Given the description of an element on the screen output the (x, y) to click on. 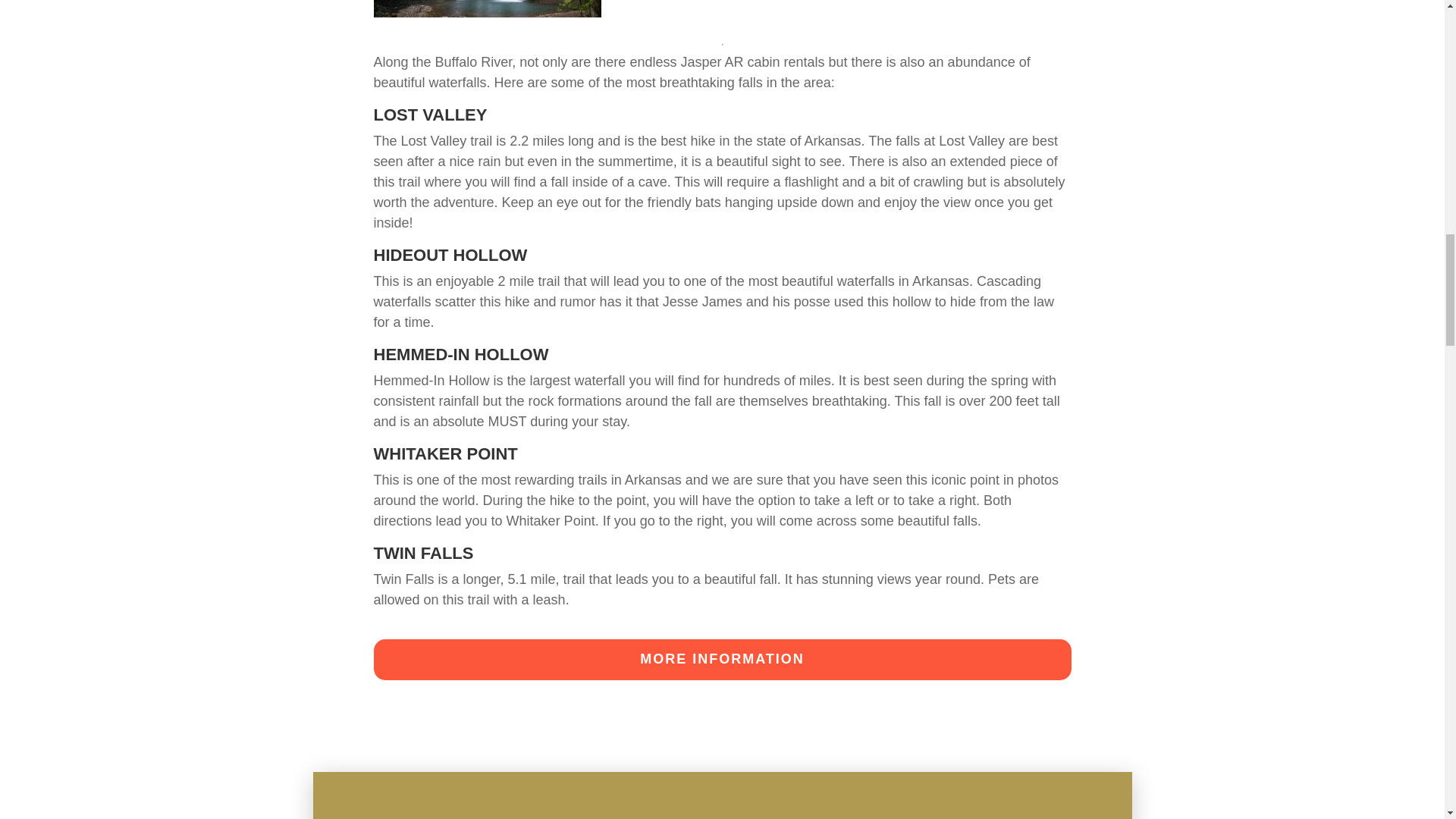
MORE INFORMATION (721, 659)
